Given the description of an element on the screen output the (x, y) to click on. 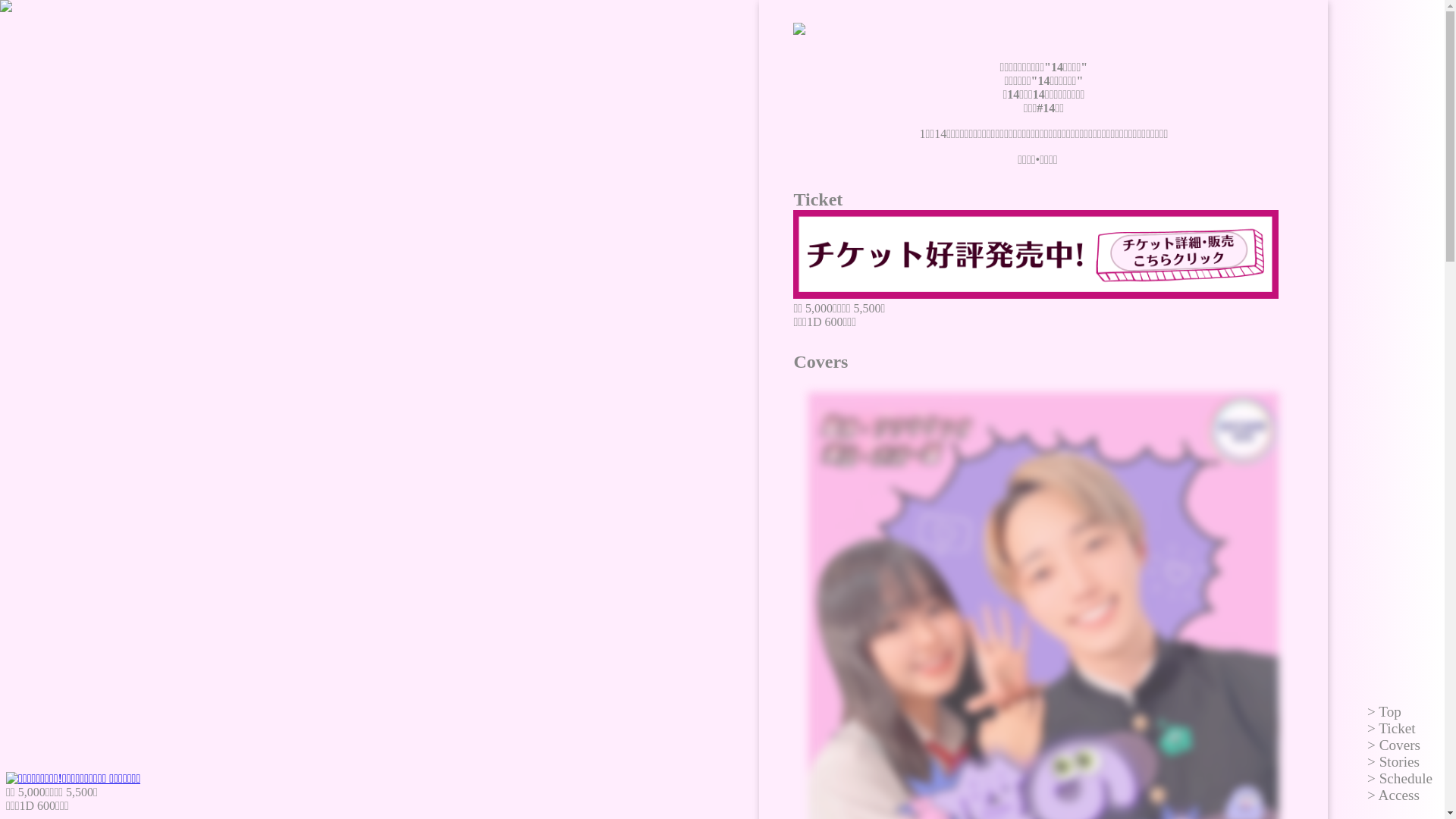
Ticket Element type: text (1391, 728)
Top Element type: text (1384, 711)
Stories Element type: text (1393, 761)
Schedule Element type: text (1399, 778)
Access Element type: text (1393, 795)
Covers Element type: text (1393, 745)
